Given the description of an element on the screen output the (x, y) to click on. 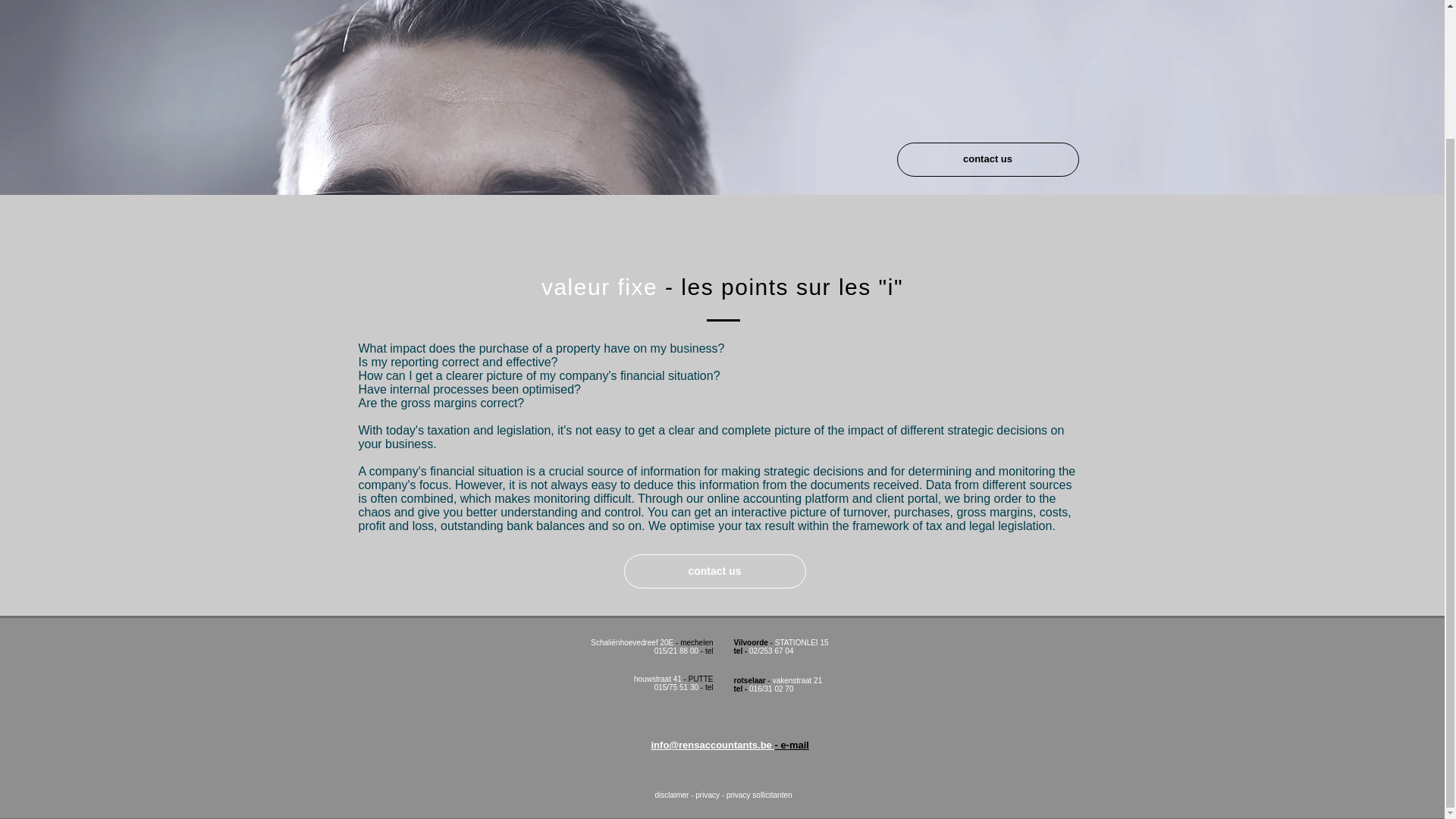
privacy sollicitanten (759, 795)
disclaimer (670, 795)
tel - (741, 688)
STATIONLEI 15 (801, 642)
tel - (741, 651)
- e-mail (791, 745)
houwstraat 41 - PUTTE (673, 678)
rotselaar - (753, 680)
contact us (714, 571)
Vilvoorde - (753, 642)
contact us (987, 159)
privacy (707, 795)
